Given the description of an element on the screen output the (x, y) to click on. 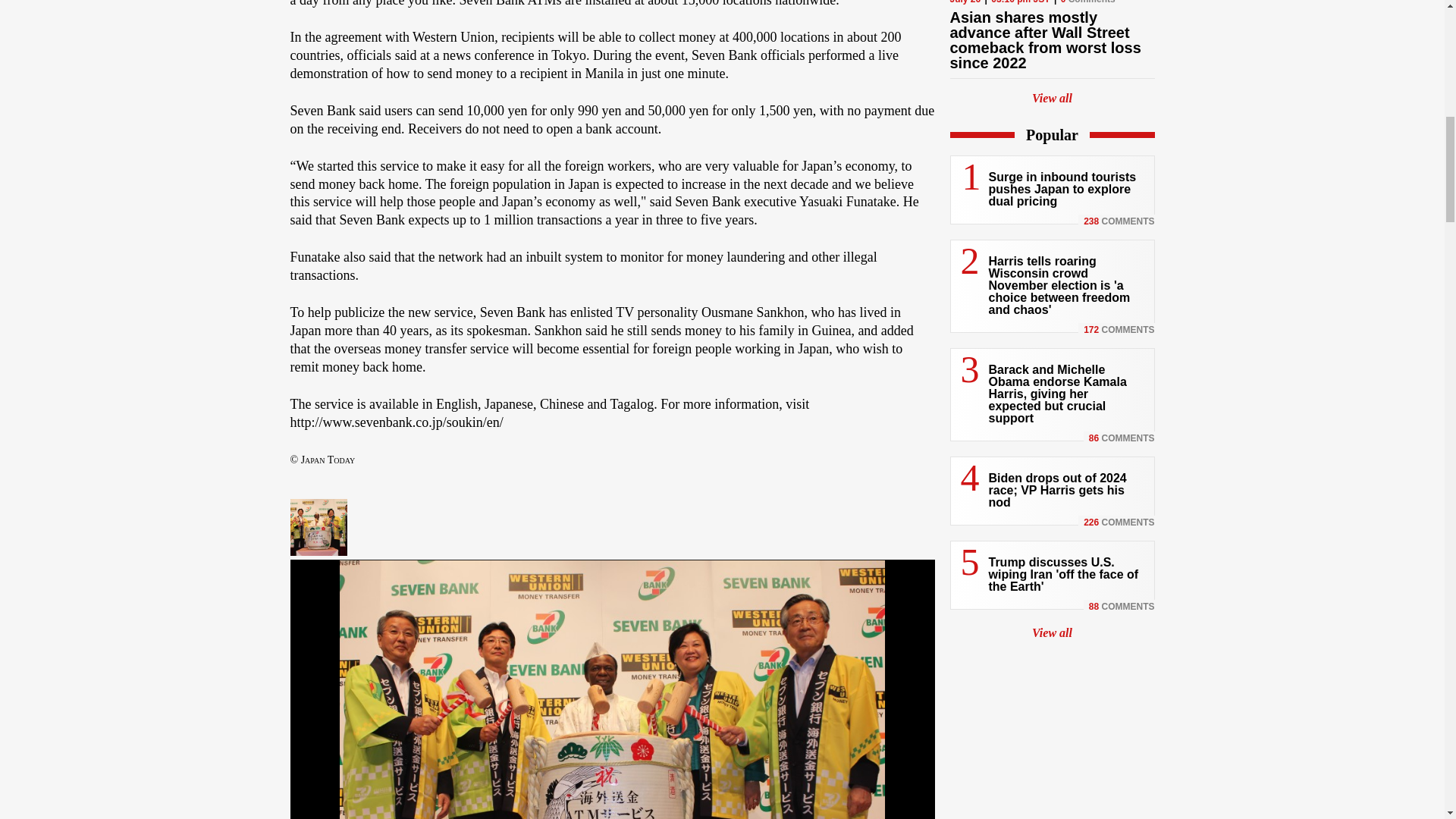
Biden drops out of 2024 race; VP Harris gets his nod (1057, 489)
